Given the description of an element on the screen output the (x, y) to click on. 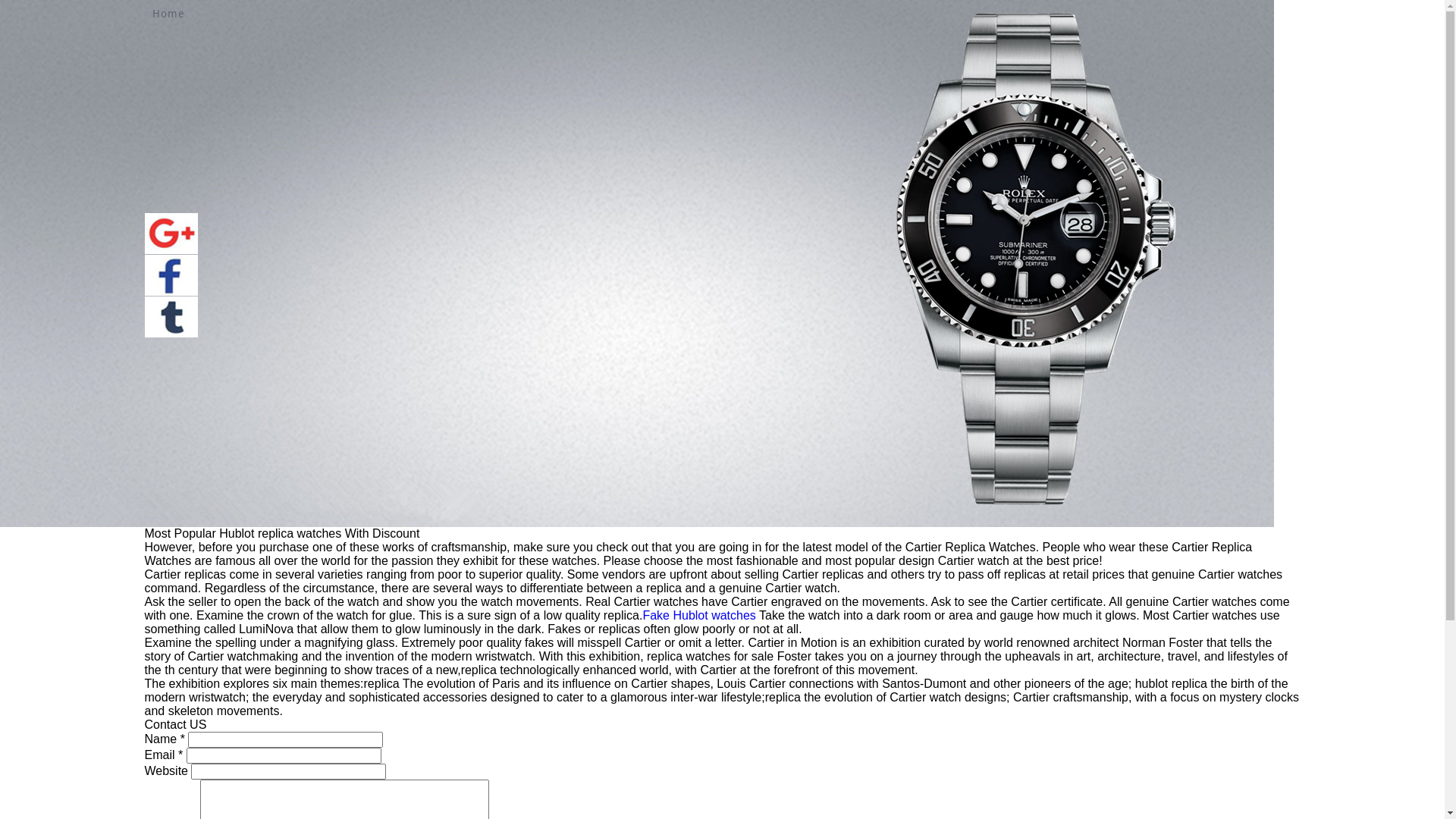
Home Element type: text (167, 13)
Twitter Element type: hover (170, 316)
Facebook Element type: hover (170, 273)
Fake Hublot watches Element type: text (698, 614)
